Given the description of an element on the screen output the (x, y) to click on. 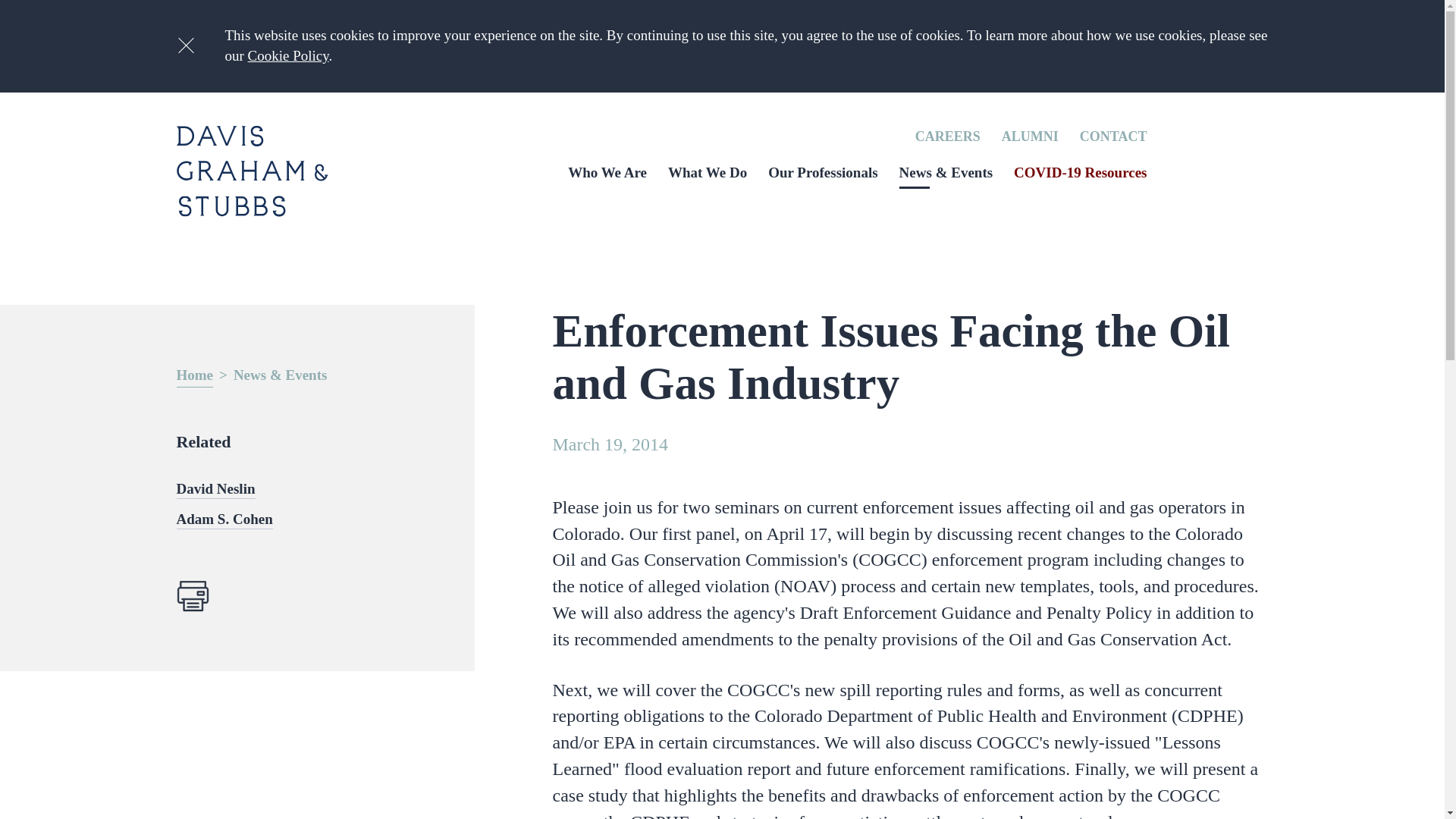
Adam S. Cohen (224, 520)
CAREERS (947, 136)
What We Do (707, 172)
Home (194, 376)
Who We Are (606, 172)
COVID-19 Resources (1080, 172)
Cookie Policy (288, 55)
David Neslin (215, 489)
Our Professionals (822, 172)
ALUMNI (1029, 136)
